Given the description of an element on the screen output the (x, y) to click on. 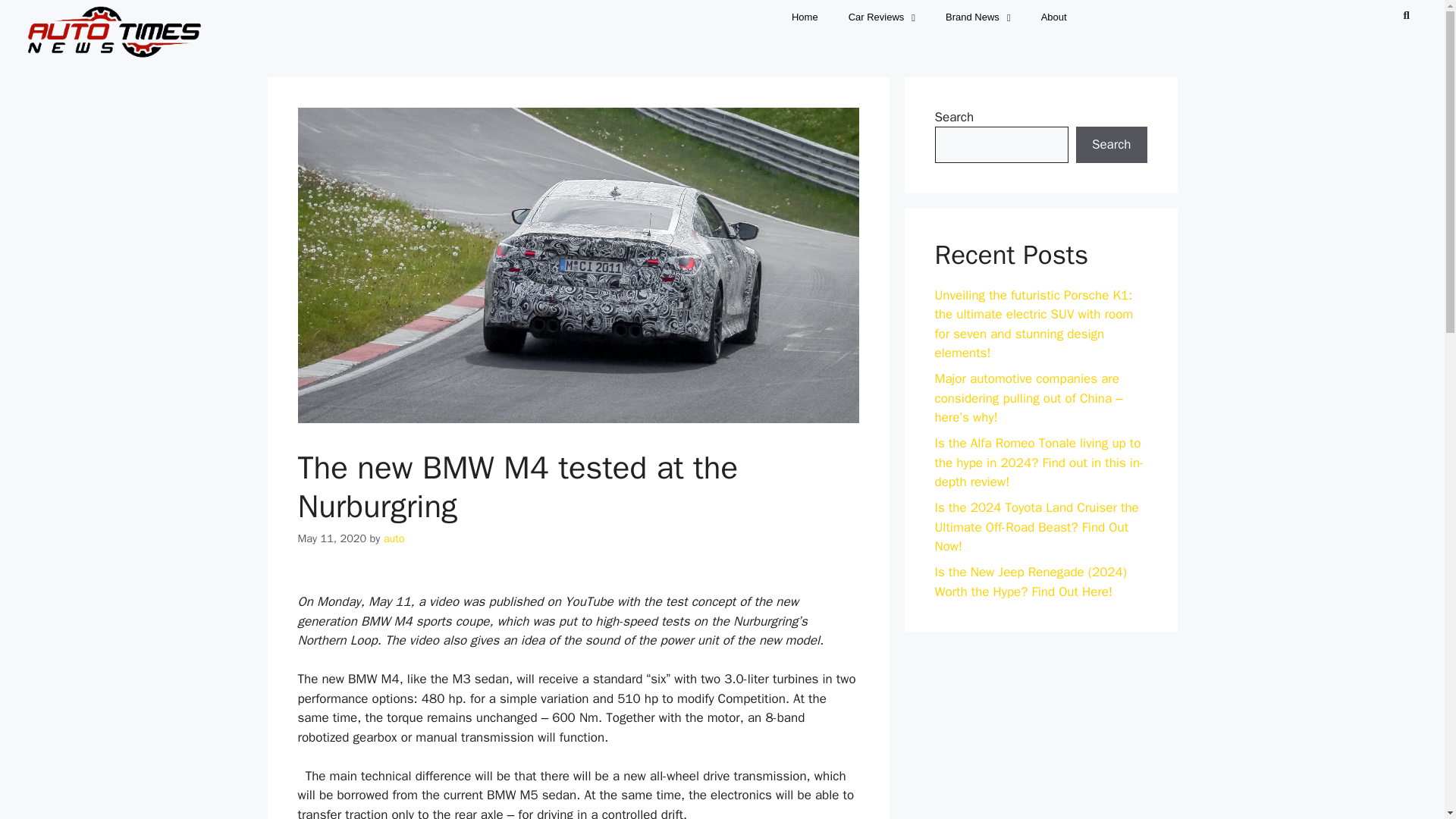
auto (394, 538)
Brand News (978, 17)
Search (1400, 14)
About (1053, 17)
View all posts by auto (394, 538)
Car Reviews (881, 17)
Home (804, 17)
